Given the description of an element on the screen output the (x, y) to click on. 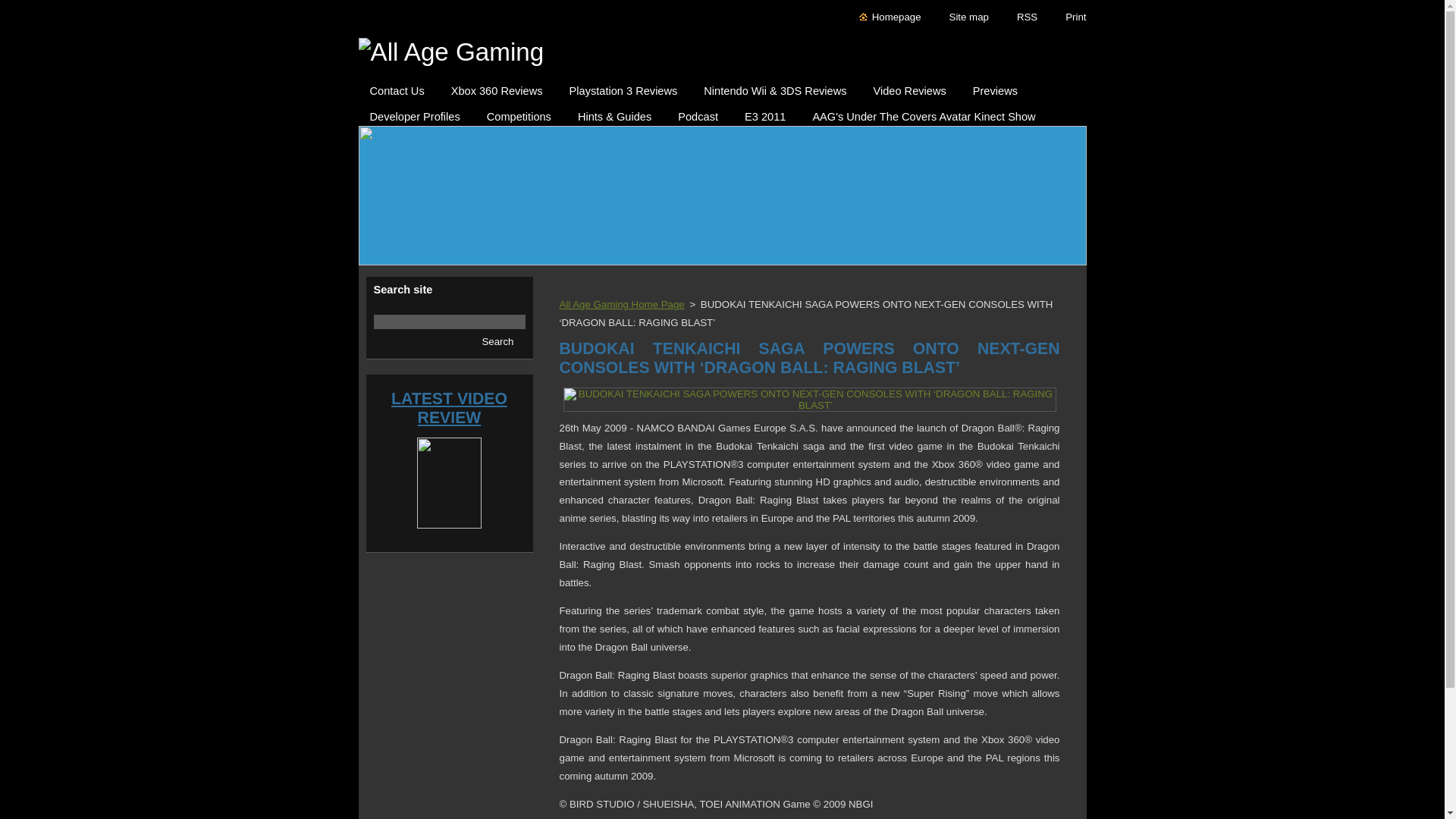
Go to Homepage. (722, 51)
Contact Us (396, 86)
Video Reviews (908, 86)
Playstation 3 Reviews (622, 86)
E3 2011 (764, 112)
Competitions (519, 112)
Xbox 360 Reviews (496, 86)
AAG's Under The Covers Avatar Kinect Show (923, 112)
Site map (962, 16)
Homepage (890, 16)
